Given the description of an element on the screen output the (x, y) to click on. 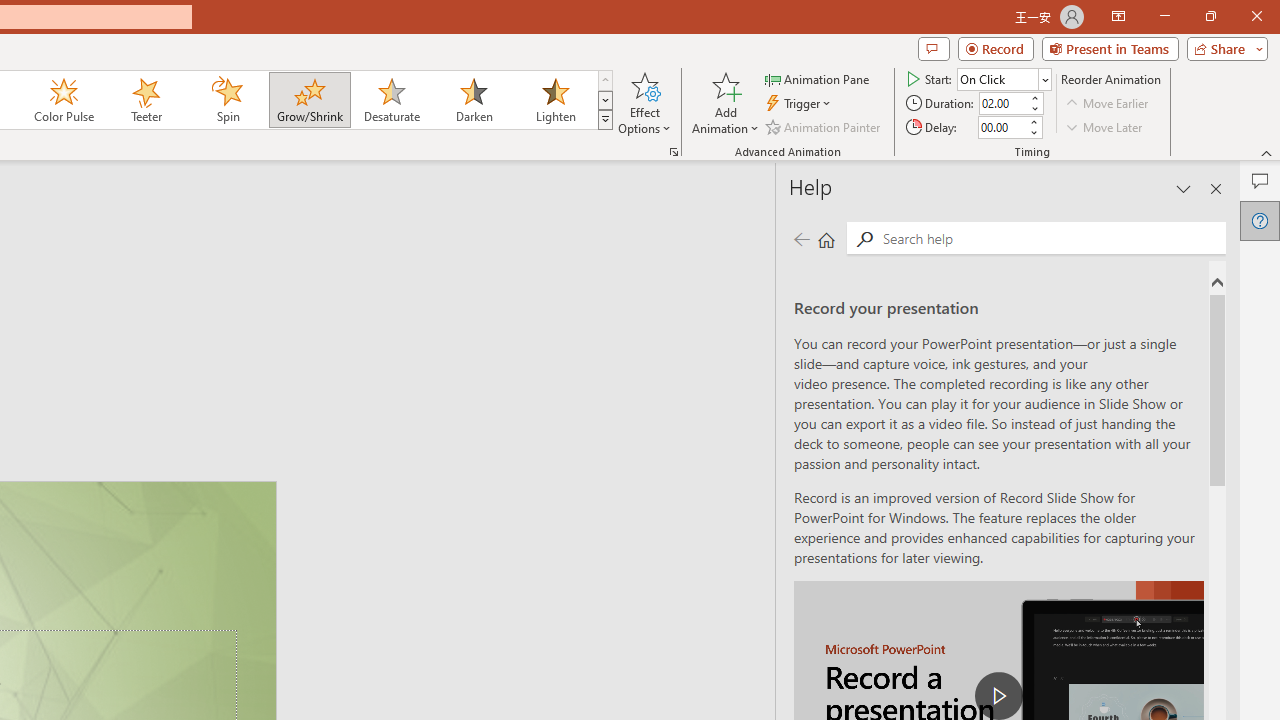
Spin (227, 100)
Desaturate (391, 100)
Animation Delay (1002, 127)
Animation Styles (605, 120)
Add Animation (725, 102)
Lighten (555, 100)
Grow/Shrink (309, 100)
